Given the description of an element on the screen output the (x, y) to click on. 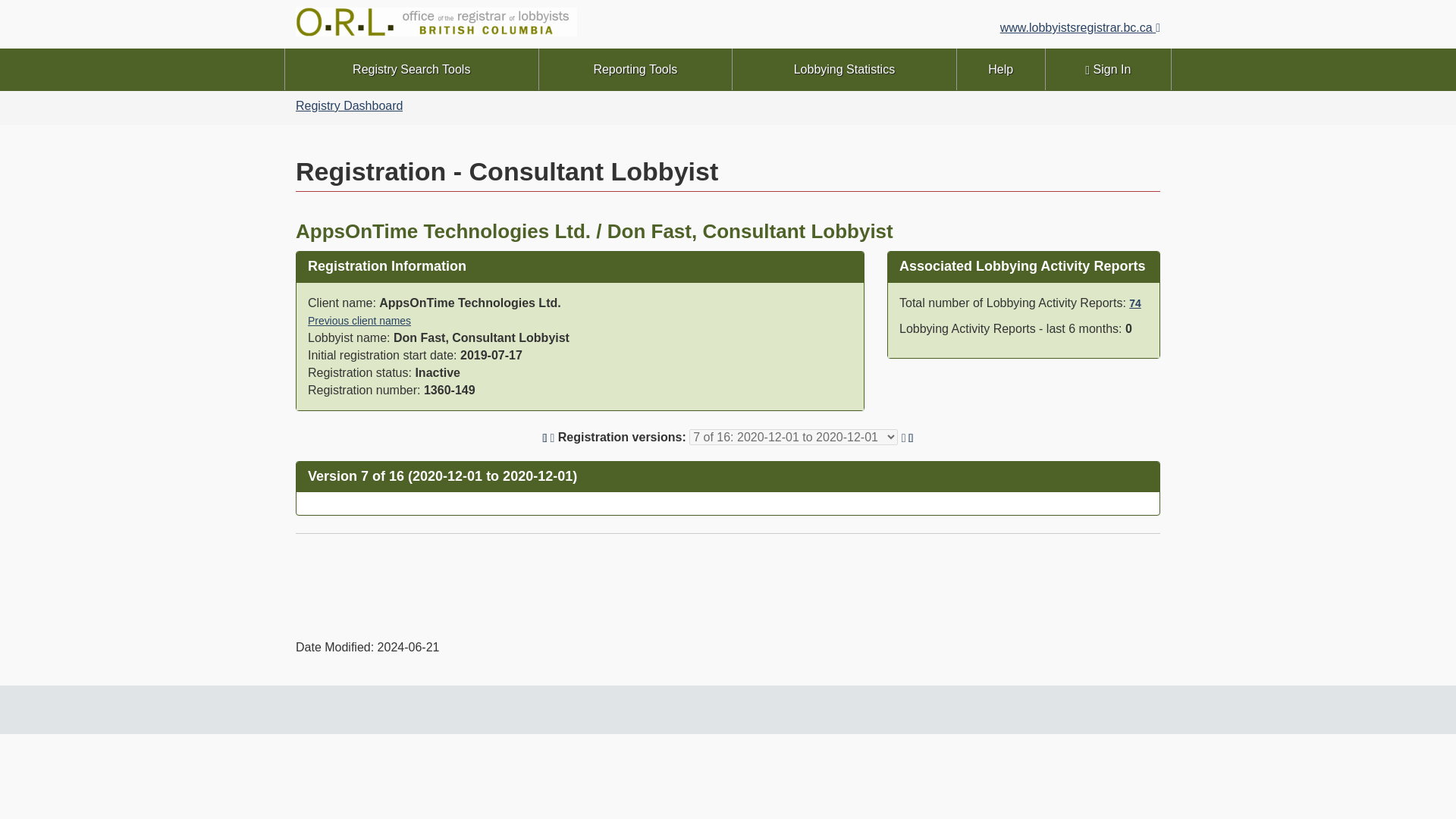
Reporting Tools (635, 69)
www.lobbyistsregistrar.bc.ca (1080, 27)
Lobbying Statistics (844, 69)
Registry Dashboard (349, 105)
Help (1000, 69)
74 (1134, 303)
Office of the Registrar or Lobbying of BC (505, 23)
Skip to main content (731, 11)
Sign In (1107, 69)
Previous client names (358, 320)
Registry Search Tools (411, 69)
